Given the description of an element on the screen output the (x, y) to click on. 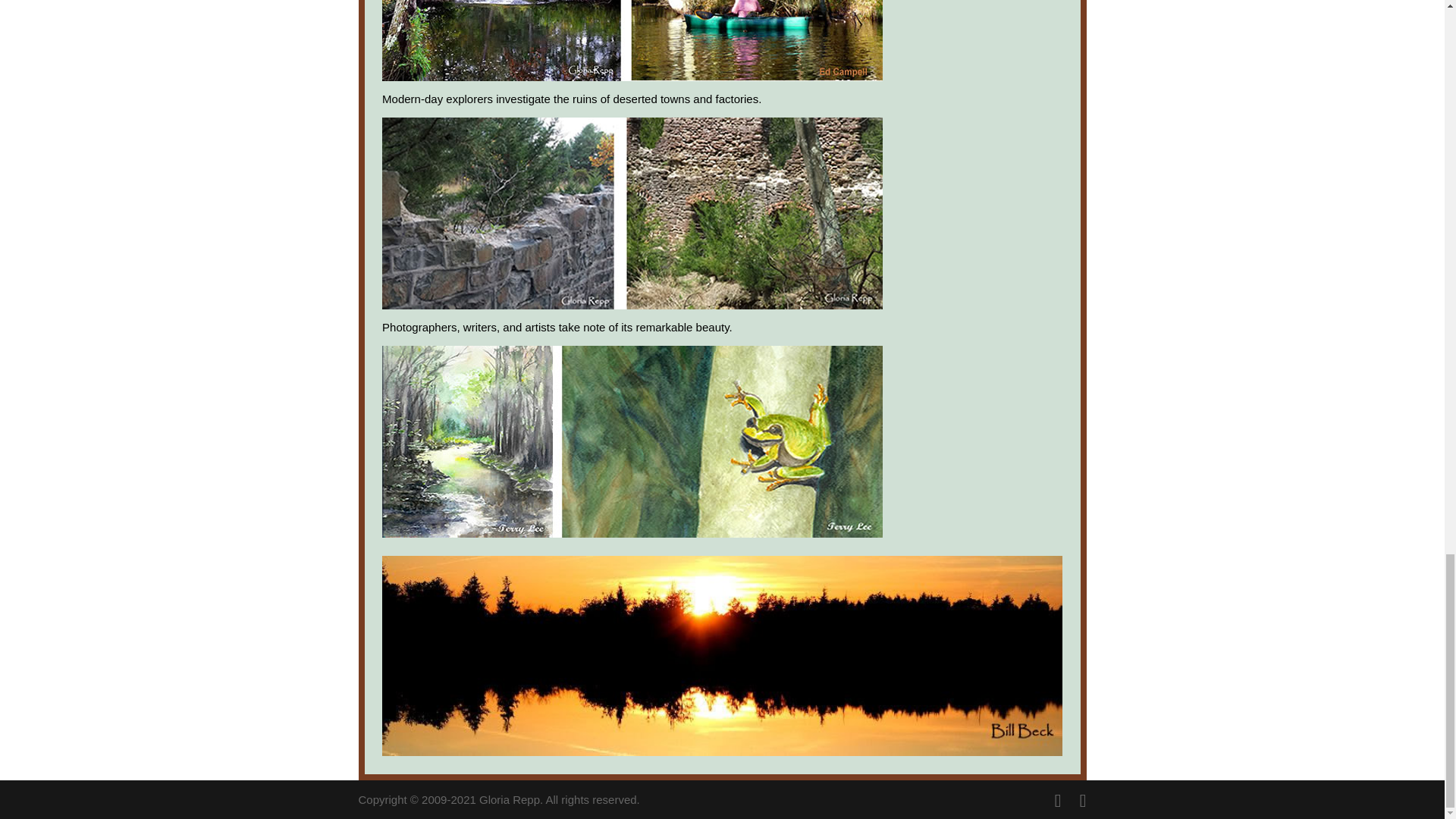
ruins (631, 213)
canoeists-kayakers (631, 40)
beauty (631, 441)
